Given the description of an element on the screen output the (x, y) to click on. 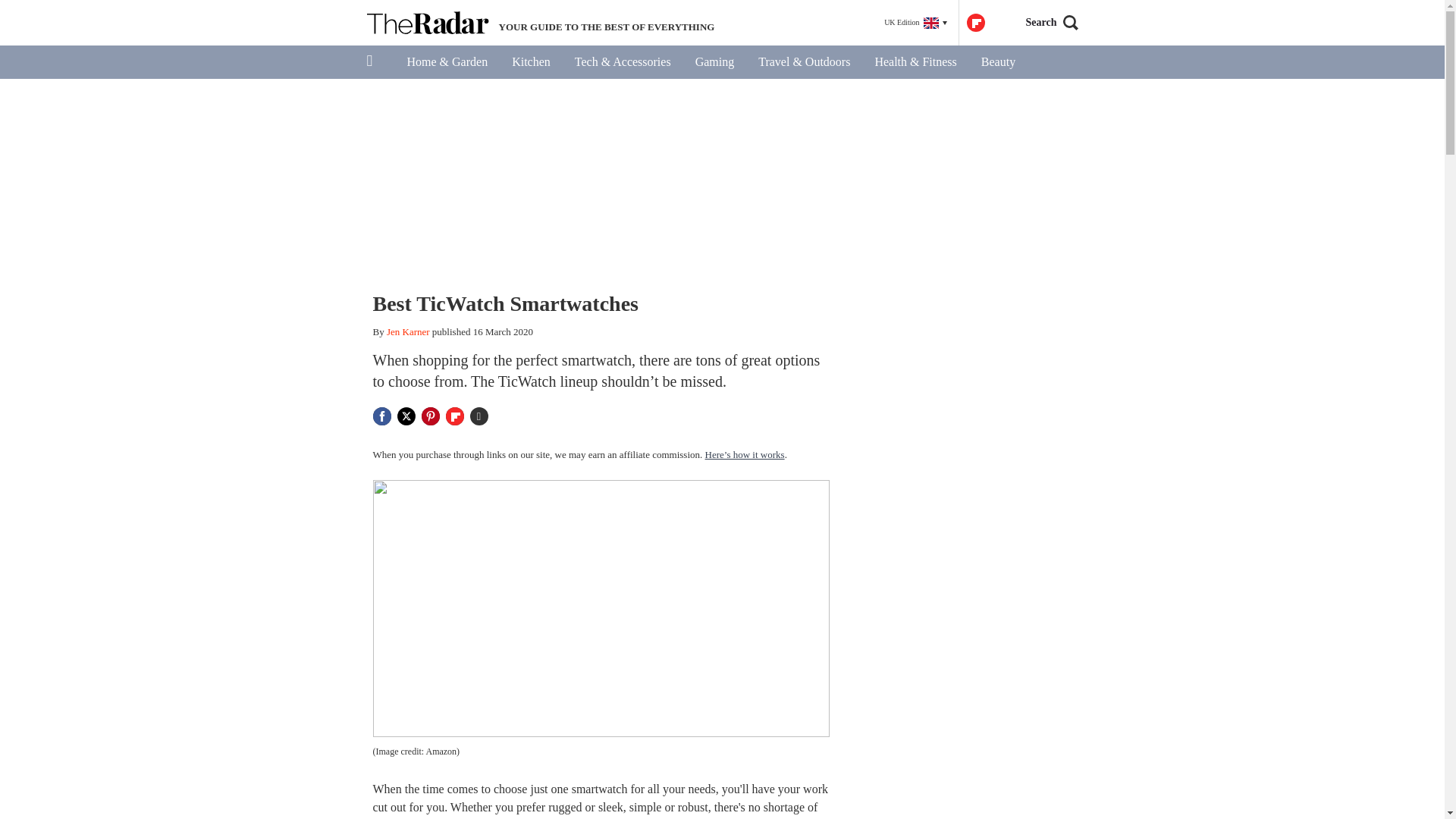
Gaming (714, 61)
Beauty (998, 61)
YOUR GUIDE TO THE BEST OF EVERYTHING (540, 22)
Jen Karner (408, 331)
UK Edition (914, 22)
Kitchen (530, 61)
